Given the description of an element on the screen output the (x, y) to click on. 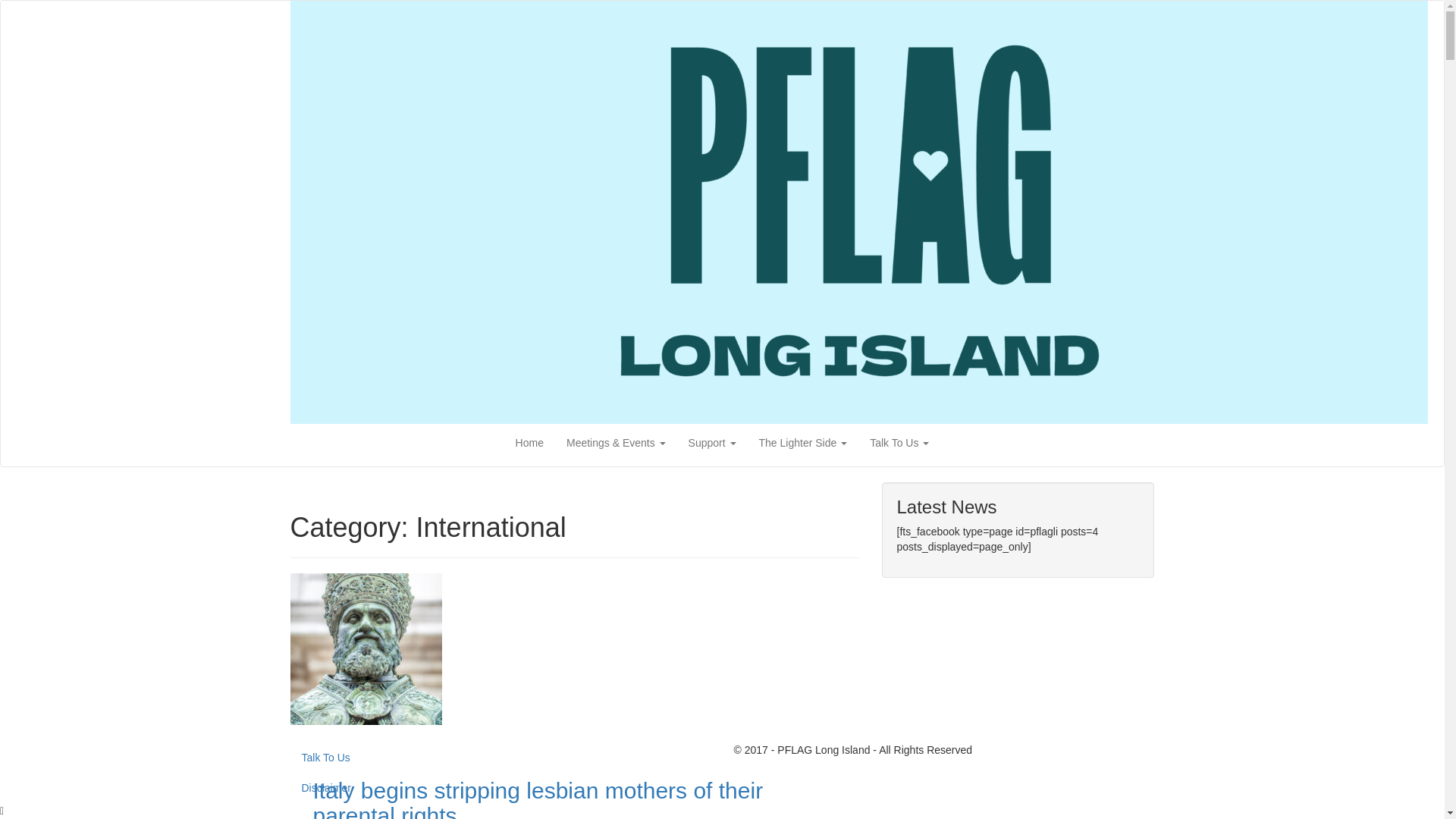
The Lighter Side (803, 442)
Talk To Us (899, 442)
The Lighter Side (803, 442)
Support (712, 442)
Home (528, 442)
Home (528, 442)
Support (712, 442)
